Given the description of an element on the screen output the (x, y) to click on. 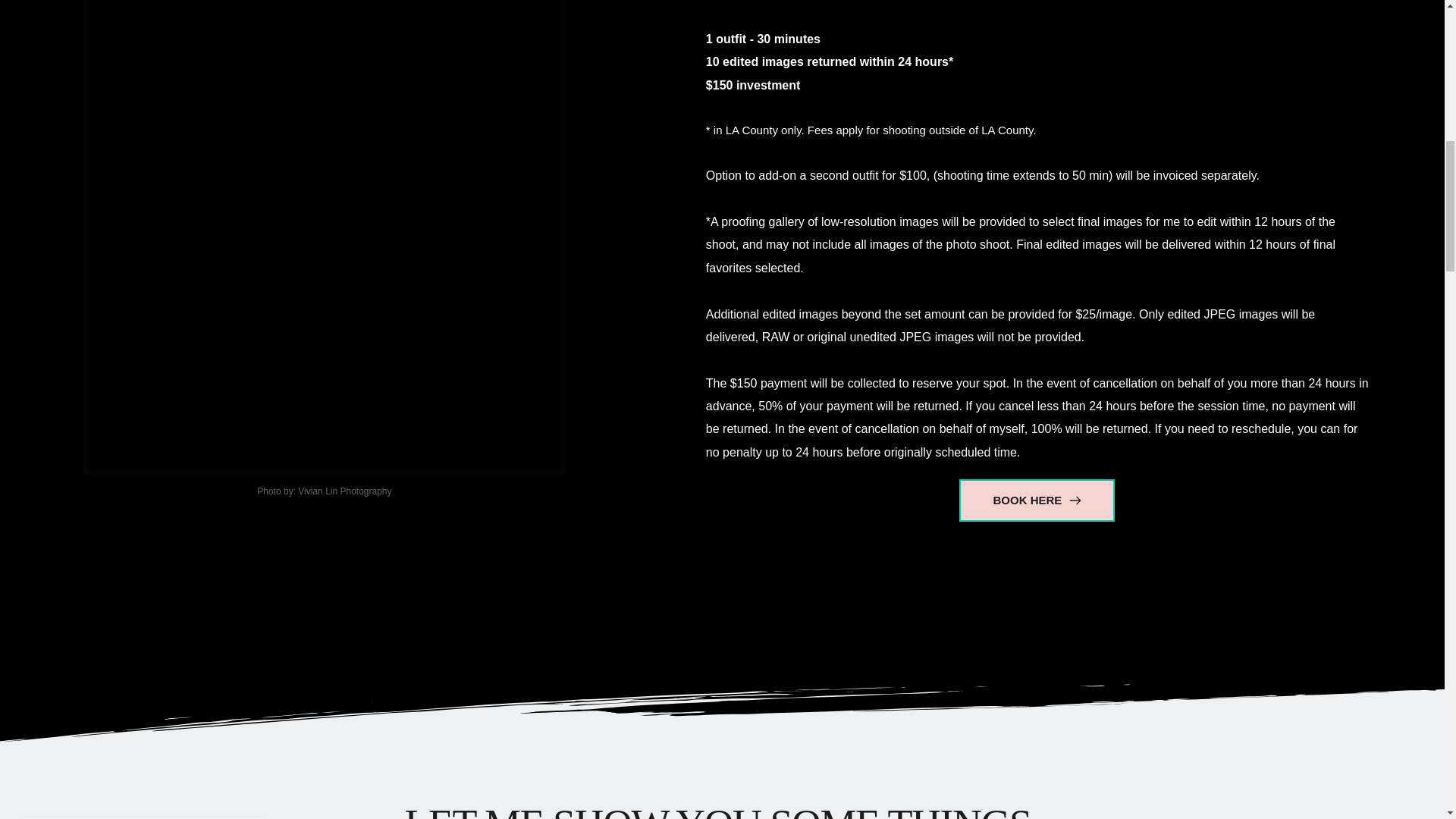
BOOK HERE (1037, 500)
